Given the description of an element on the screen output the (x, y) to click on. 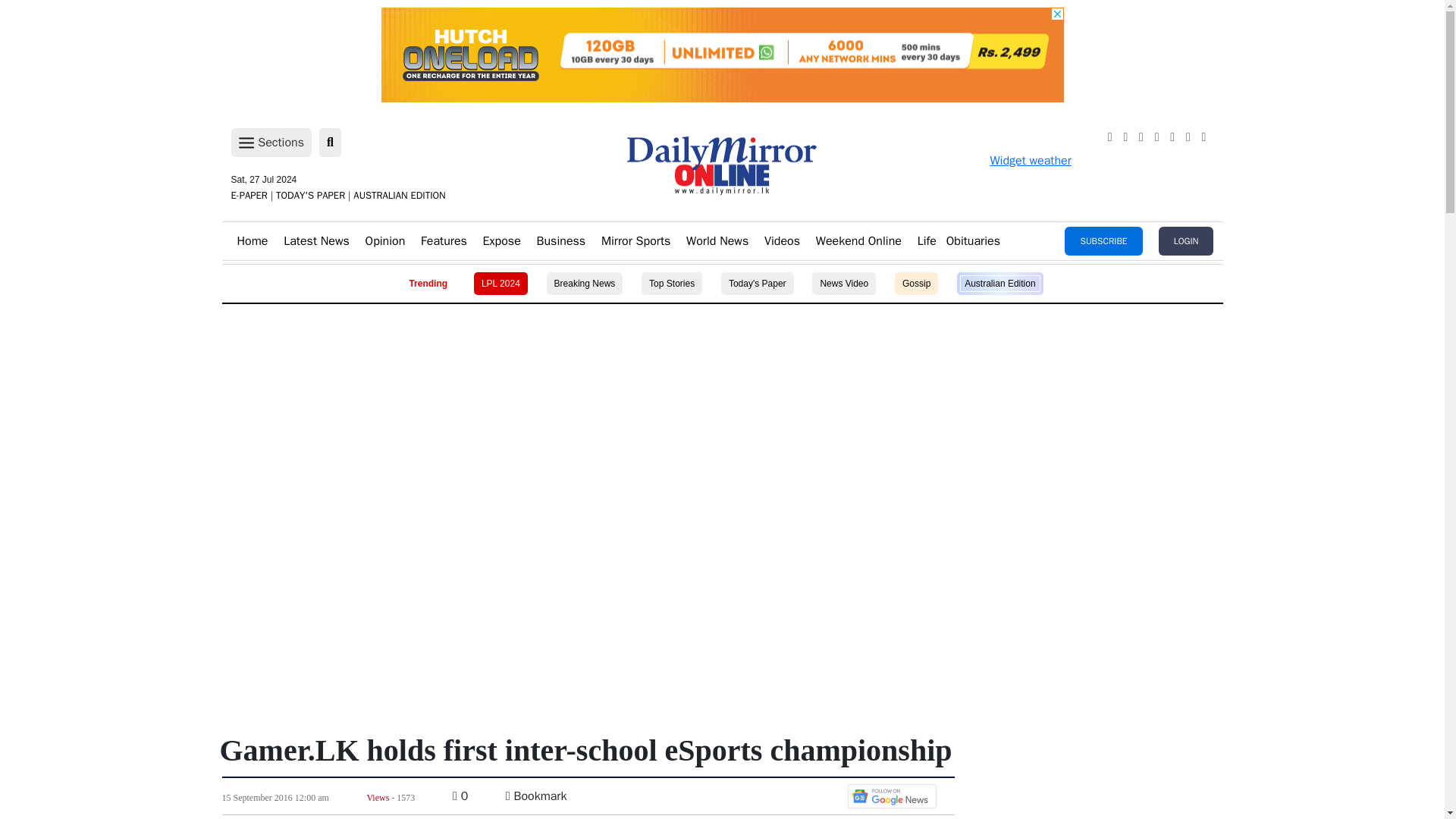
3rd party ad content (721, 562)
3rd party ad content (721, 358)
3rd party ad content (721, 54)
3rd party ad content (721, 461)
